Given the description of an element on the screen output the (x, y) to click on. 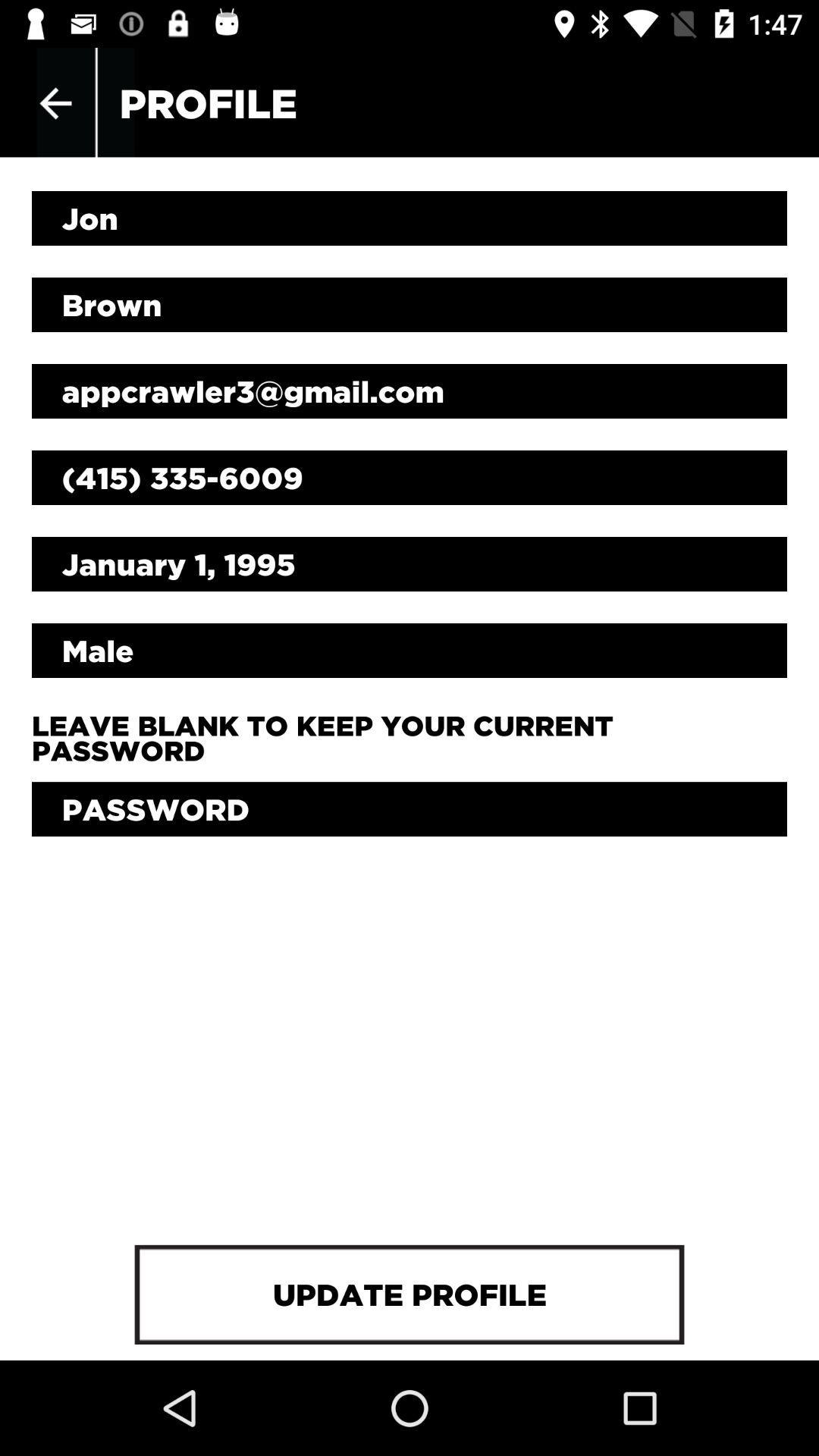
open the item next to profile icon (55, 103)
